Given the description of an element on the screen output the (x, y) to click on. 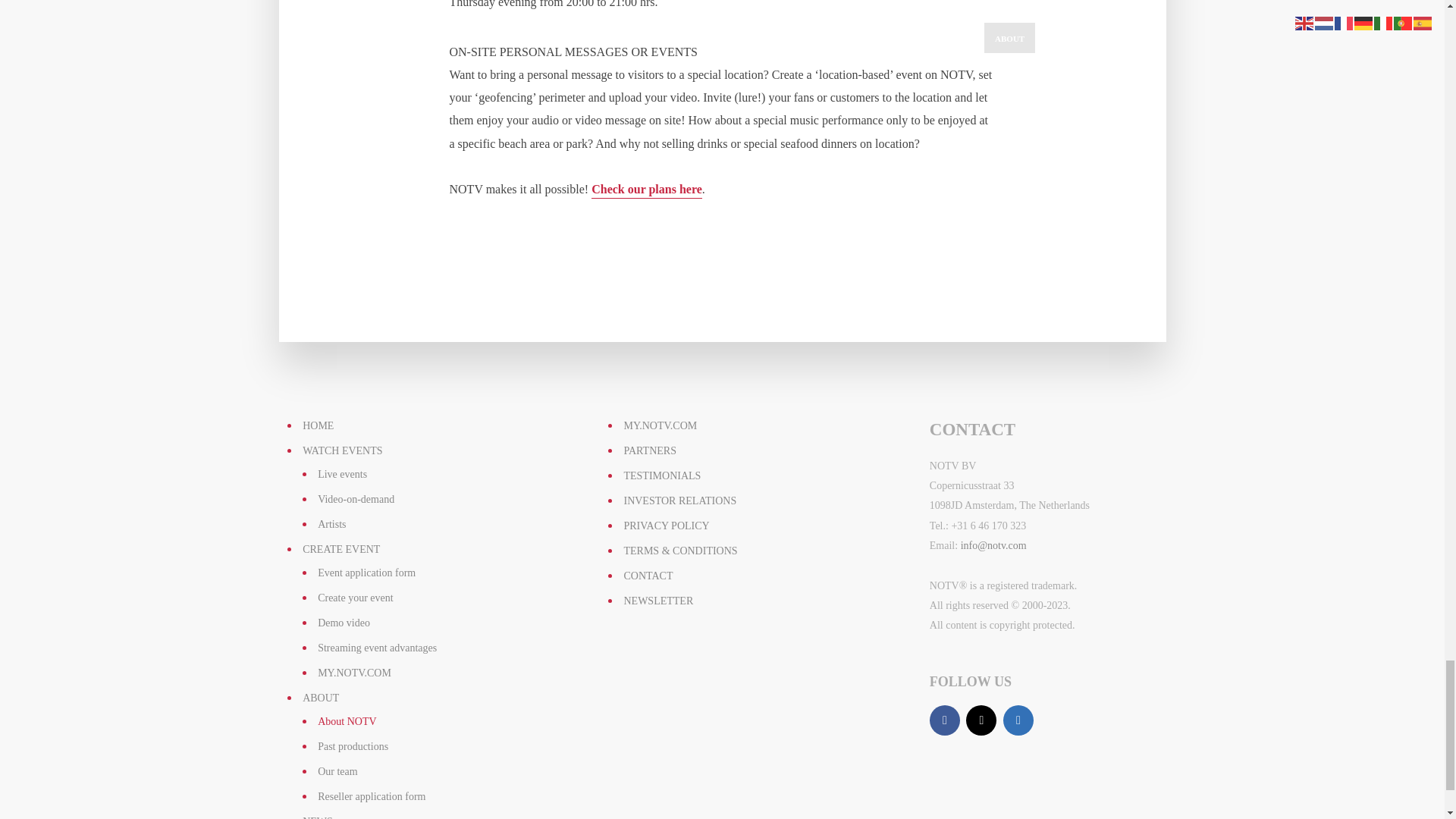
CREATE EVENT (341, 549)
ABOUT (320, 697)
Instagram (980, 720)
Check our plans here (646, 190)
Live events (341, 473)
Linkedin (1018, 720)
Streaming event advantages (376, 647)
Create your event (355, 597)
Video-on-demand (355, 499)
WATCH EVENTS (341, 450)
Artists (331, 523)
Demo video (343, 622)
Facebook (944, 720)
MY.NOTV.COM (354, 672)
Event application form (365, 572)
